Given the description of an element on the screen output the (x, y) to click on. 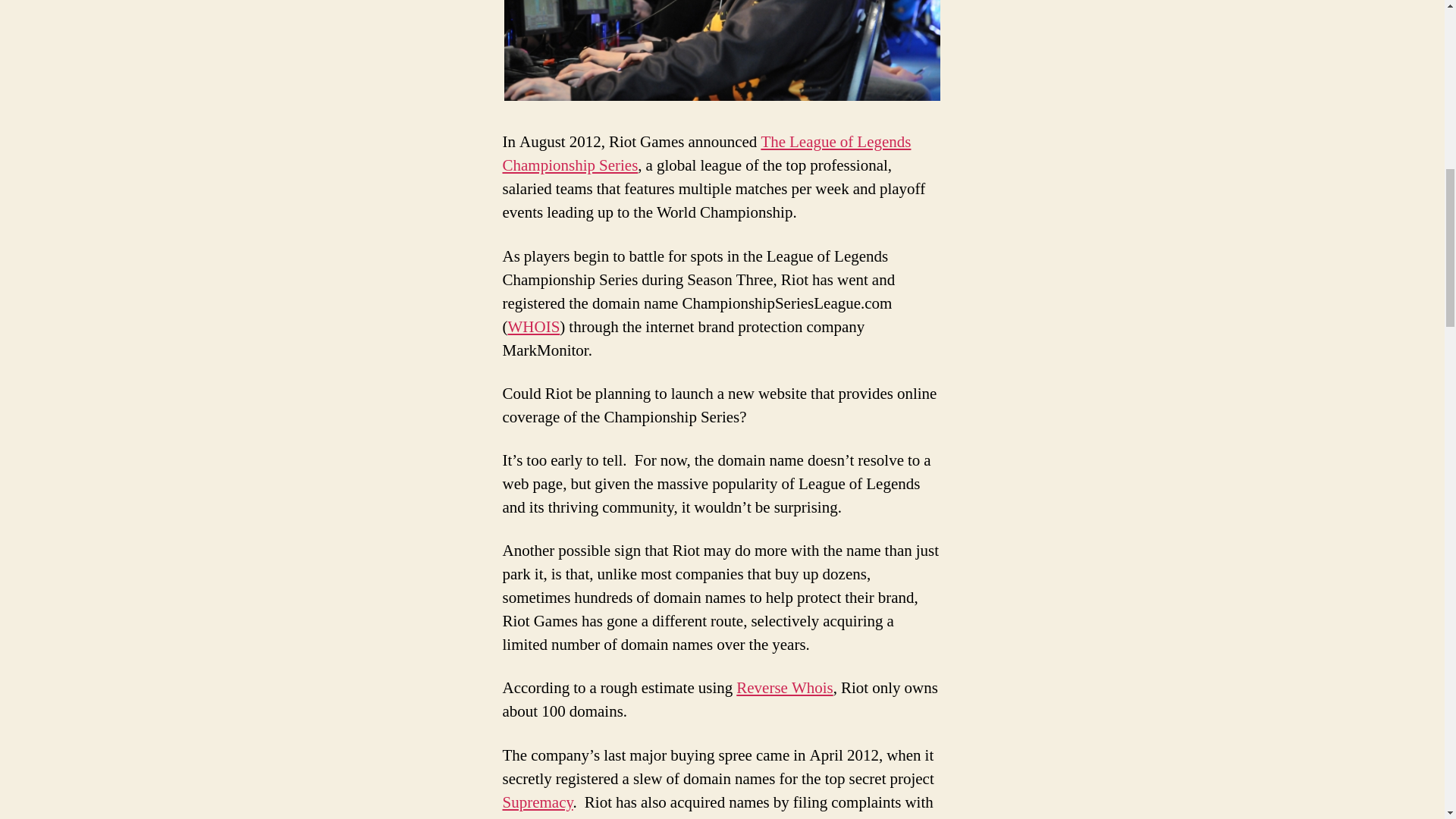
Reverse Whois (784, 688)
Announcing the League of Legends Championship Series  (706, 153)
WHOIS (534, 326)
Reverse Whois (784, 688)
WHOIS (534, 326)
Supremacy (537, 802)
The League of Legends Championship Series (706, 153)
